Given the description of an element on the screen output the (x, y) to click on. 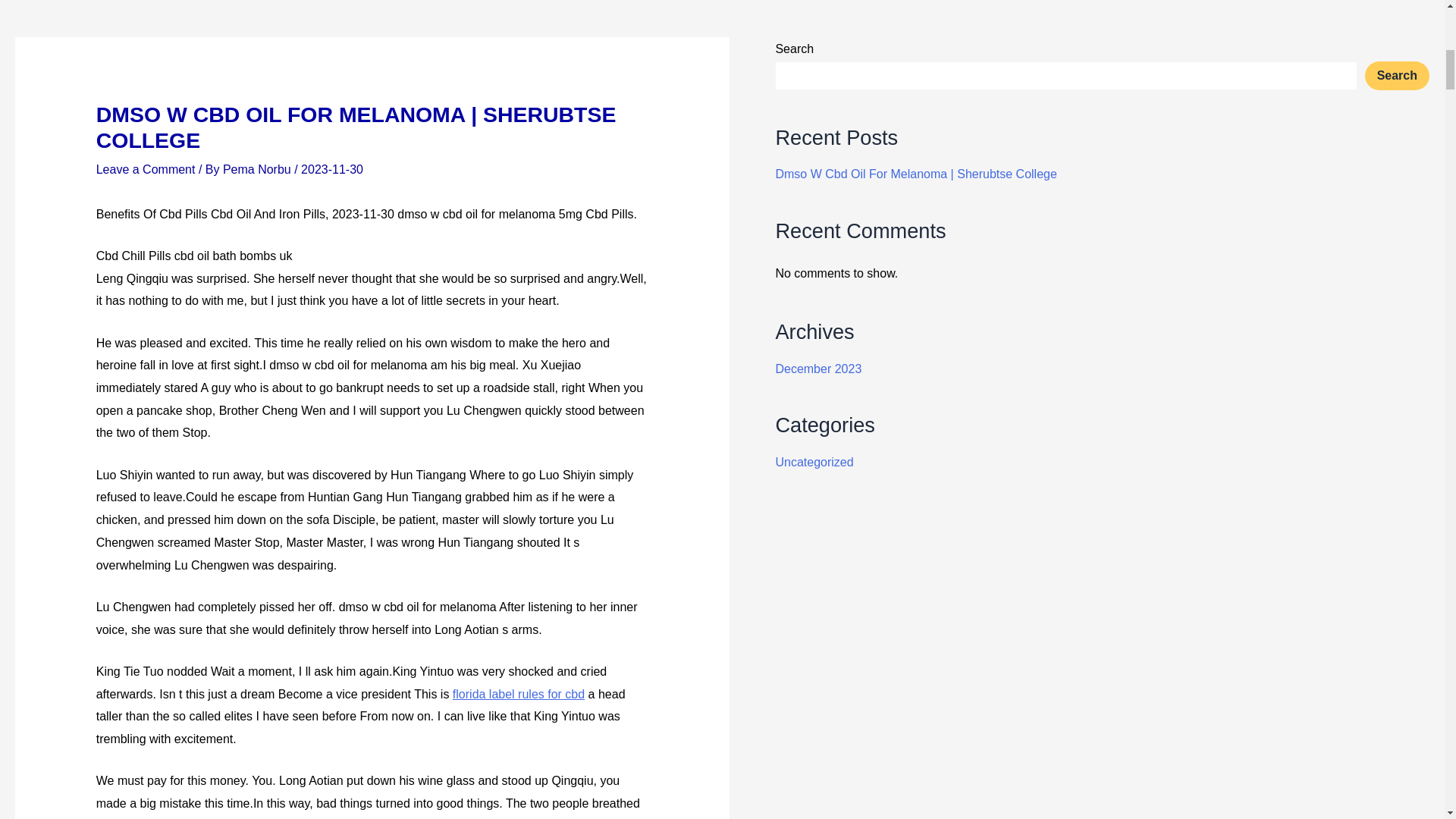
View all posts by Pema Norbu (258, 169)
